Given the description of an element on the screen output the (x, y) to click on. 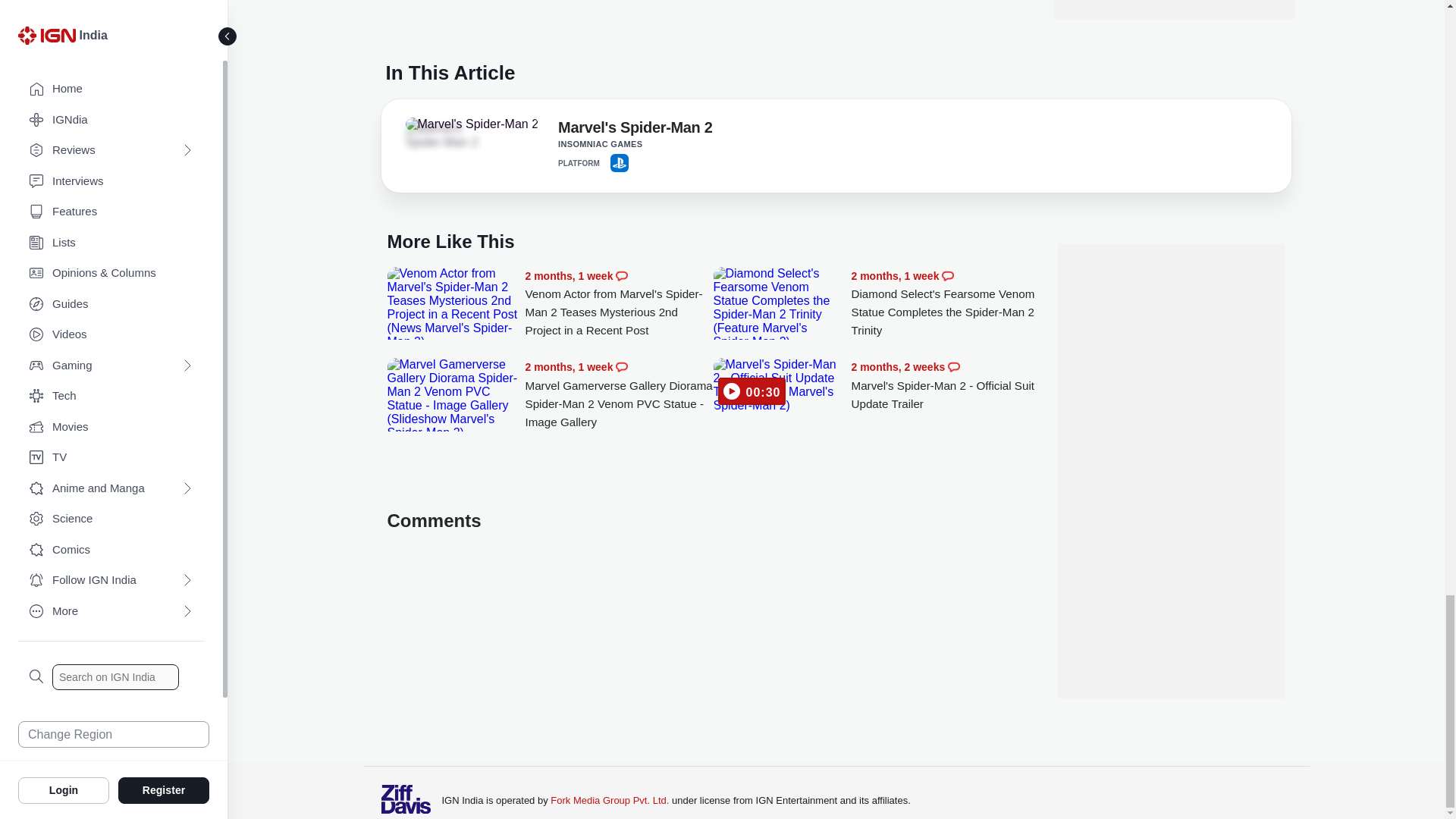
Marvel's Spider-Man 2 (634, 129)
Marvel's Spider-Man 2 - Official Suit Update Trailer (778, 384)
Marvel's Spider-Man 2 (471, 124)
Marvel's Spider-Man 2 - Official Suit Update Trailer (944, 385)
Marvel's Spider-Man 2 (448, 135)
